Given the description of an element on the screen output the (x, y) to click on. 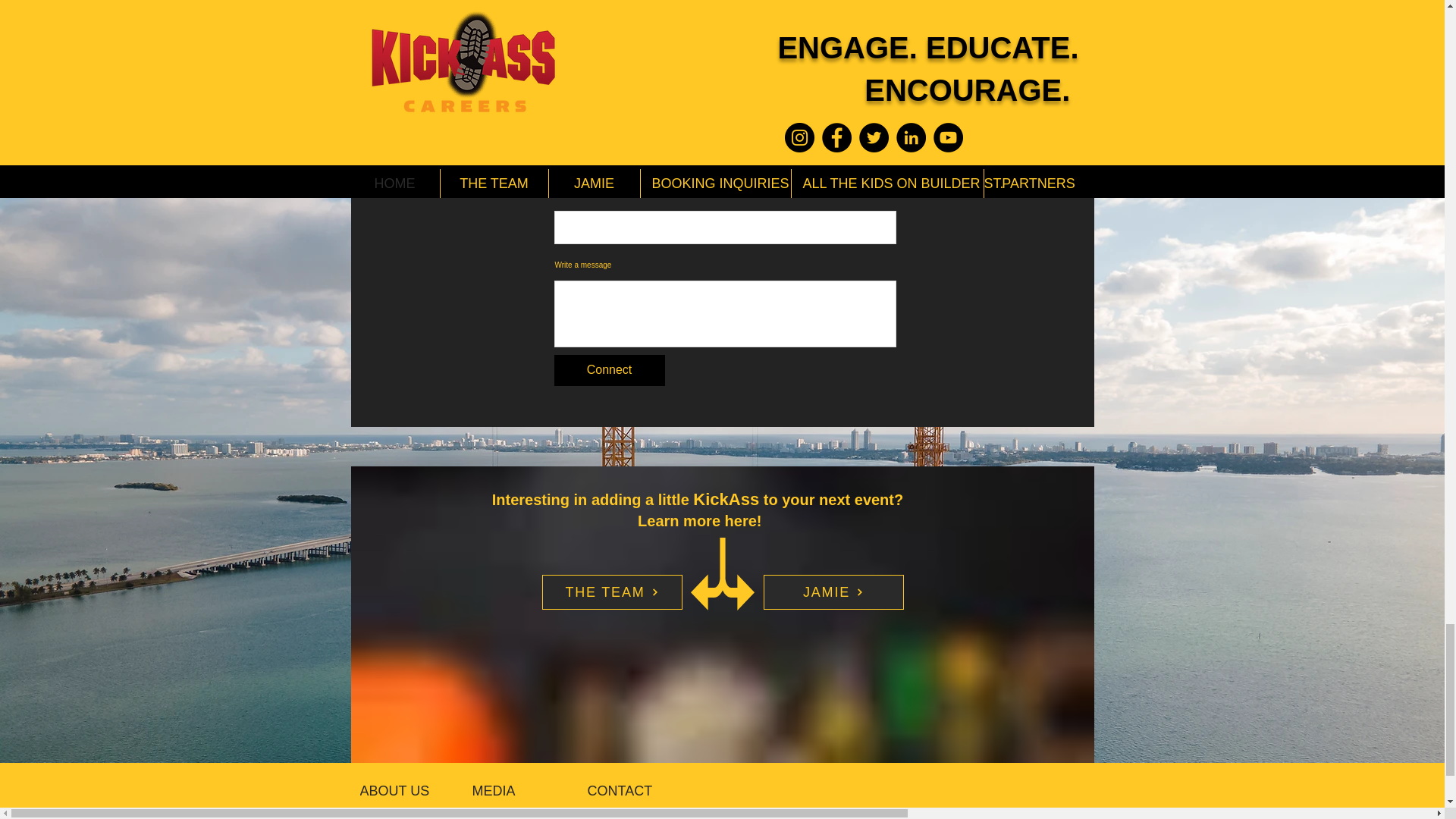
THE TEAM (611, 591)
SHOP (524, 815)
Connect (608, 369)
CONTACT (640, 790)
MEDIA (524, 790)
THE TEAM (402, 815)
ABOUT US (419, 790)
JAMIE (832, 591)
